Given the description of an element on the screen output the (x, y) to click on. 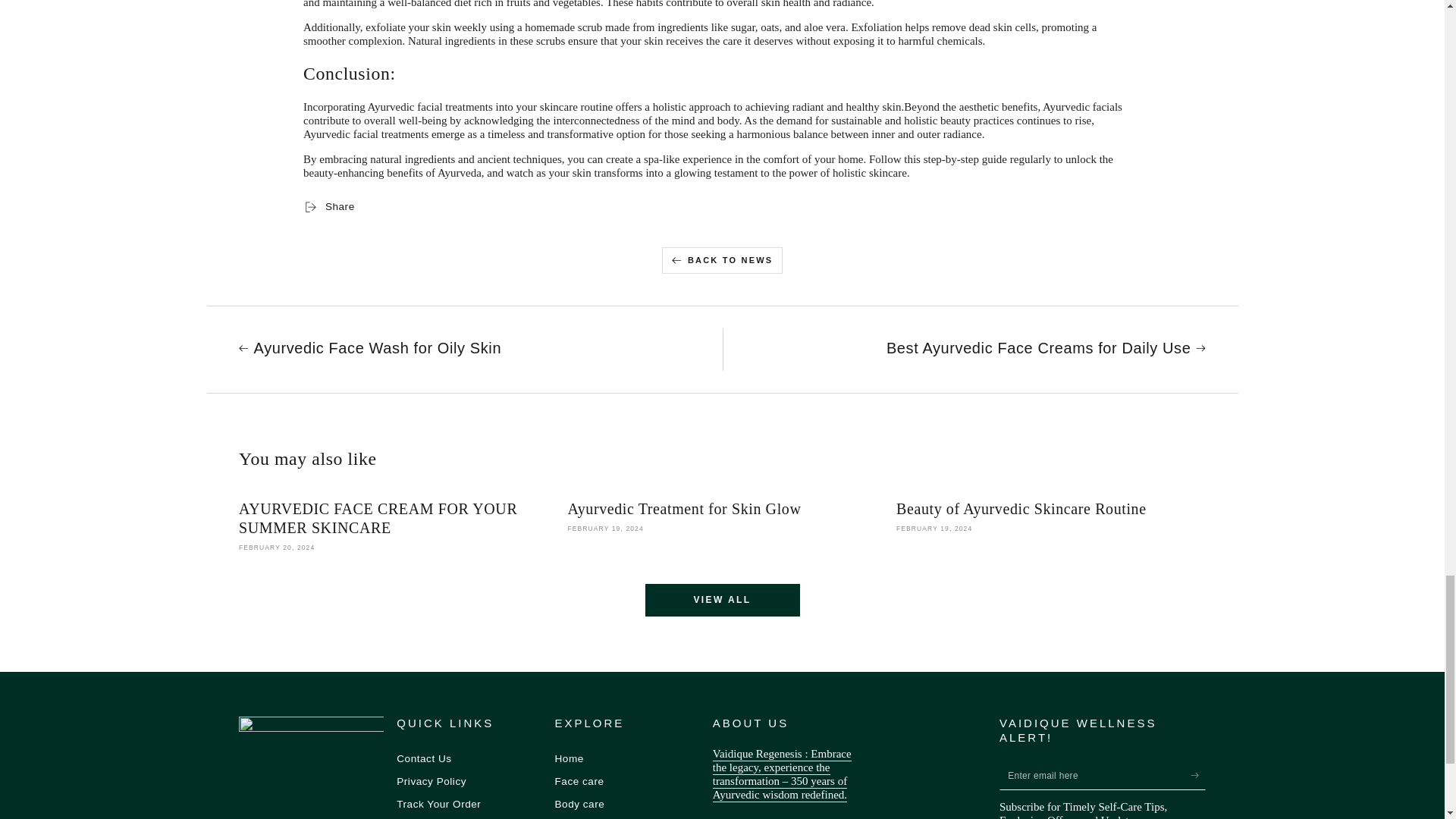
About Us (782, 774)
